Given the description of an element on the screen output the (x, y) to click on. 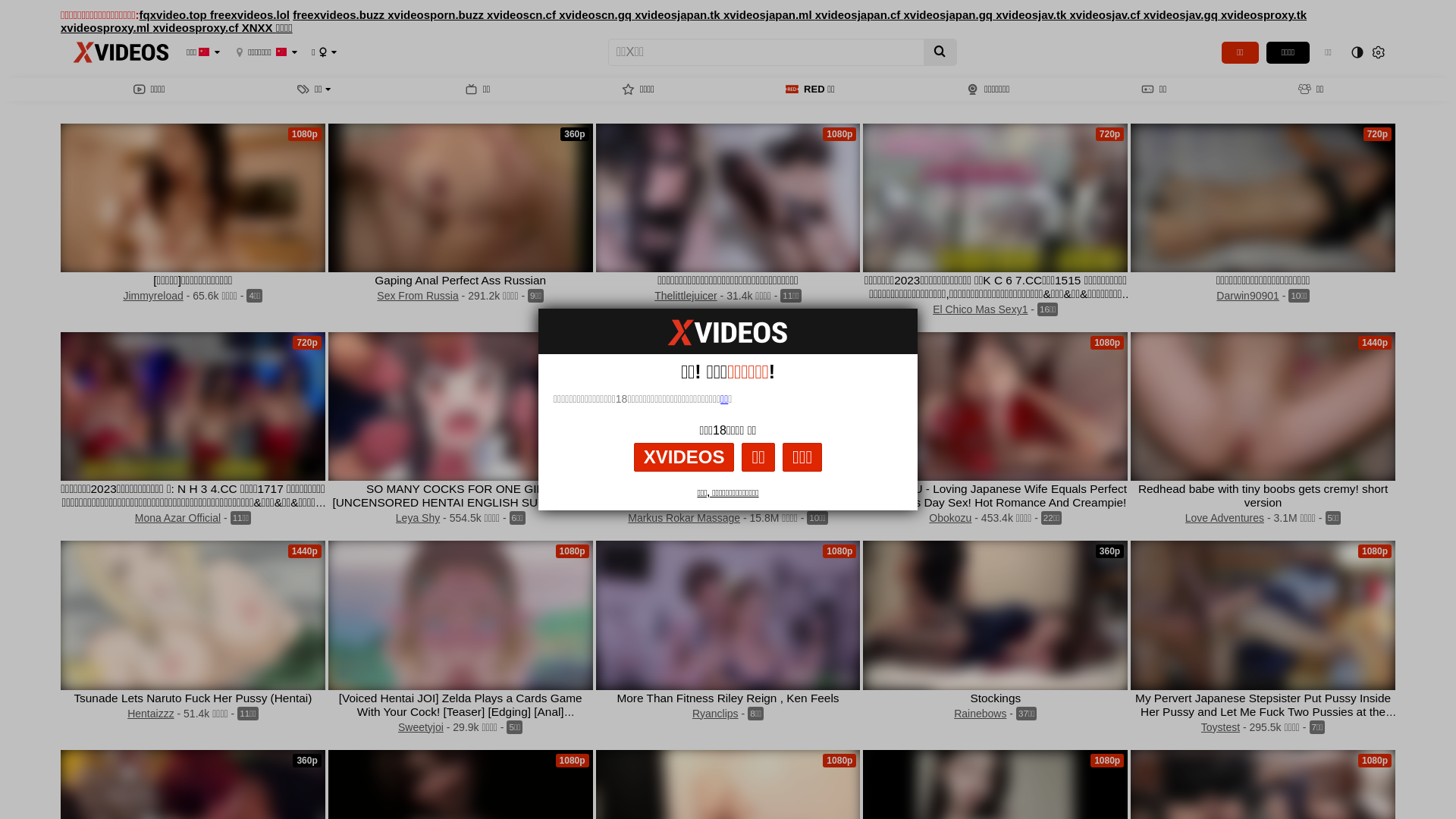
Ryanclips Element type: text (715, 713)
xvideoscn.gq Element type: text (596, 14)
xvideosproxy.cf Element type: text (196, 27)
Sweetyjoi Element type: text (420, 727)
xvideosjav.cf Element type: text (1105, 14)
1080p Element type: text (1262, 614)
720p Element type: text (192, 406)
xvideosproxy.ml Element type: text (106, 27)
1080p Element type: text (728, 197)
XVIDEOS Element type: text (683, 456)
Love Adventures Element type: text (1224, 517)
Toystest Element type: text (1220, 727)
Markus Rokar Massage Element type: text (683, 517)
Hentaizzz Element type: text (150, 713)
xvideoscn.cf Element type: text (522, 14)
Darwin90901 Element type: text (1247, 295)
Thelittlejuicer Element type: text (685, 295)
xvideosjav.gq Element type: text (1181, 14)
xvideosjapan.ml Element type: text (769, 14)
freexvideos.lol Element type: text (249, 14)
Redhead babe with tiny boobs gets cremy! short version Element type: text (1262, 495)
Jimmyreload Element type: text (152, 295)
Gaping Anal Perfect Ass Russian Element type: text (460, 279)
freexvideos.buzz Element type: text (339, 14)
Stockings Element type: text (994, 697)
1080p Element type: text (994, 406)
fqxvideo.top Element type: text (174, 14)
1440p Element type: text (192, 614)
xvideosjapan.tk Element type: text (678, 14)
xvideosjapan.gq Element type: text (949, 14)
Sex From Russia Element type: text (417, 295)
Mona Azar Official Element type: text (177, 517)
xvideosjapan.cf Element type: text (859, 14)
720p Element type: text (460, 406)
720p Element type: text (1262, 197)
Leya Shy Element type: text (417, 517)
Rainebows Element type: text (979, 713)
1080p Element type: text (728, 406)
xvideosporn.buzz Element type: text (436, 14)
More Than Fitness Riley Reign , Ken Feels Element type: text (727, 697)
xvideosproxy.tk Element type: text (1263, 14)
xvideosjav.tk Element type: text (1032, 14)
360p Element type: text (460, 197)
El Chico Mas Sexy1 Element type: text (979, 309)
Tsunade Lets Naruto Fuck Her Pussy (Hentai) Element type: text (192, 697)
1080p Element type: text (460, 614)
1080p Element type: text (192, 197)
XNXX Element type: text (258, 27)
720p Element type: text (994, 197)
360p Element type: text (994, 614)
1080p Element type: text (728, 614)
1440p Element type: text (1262, 406)
Obokozu Element type: text (949, 517)
